Given the description of an element on the screen output the (x, y) to click on. 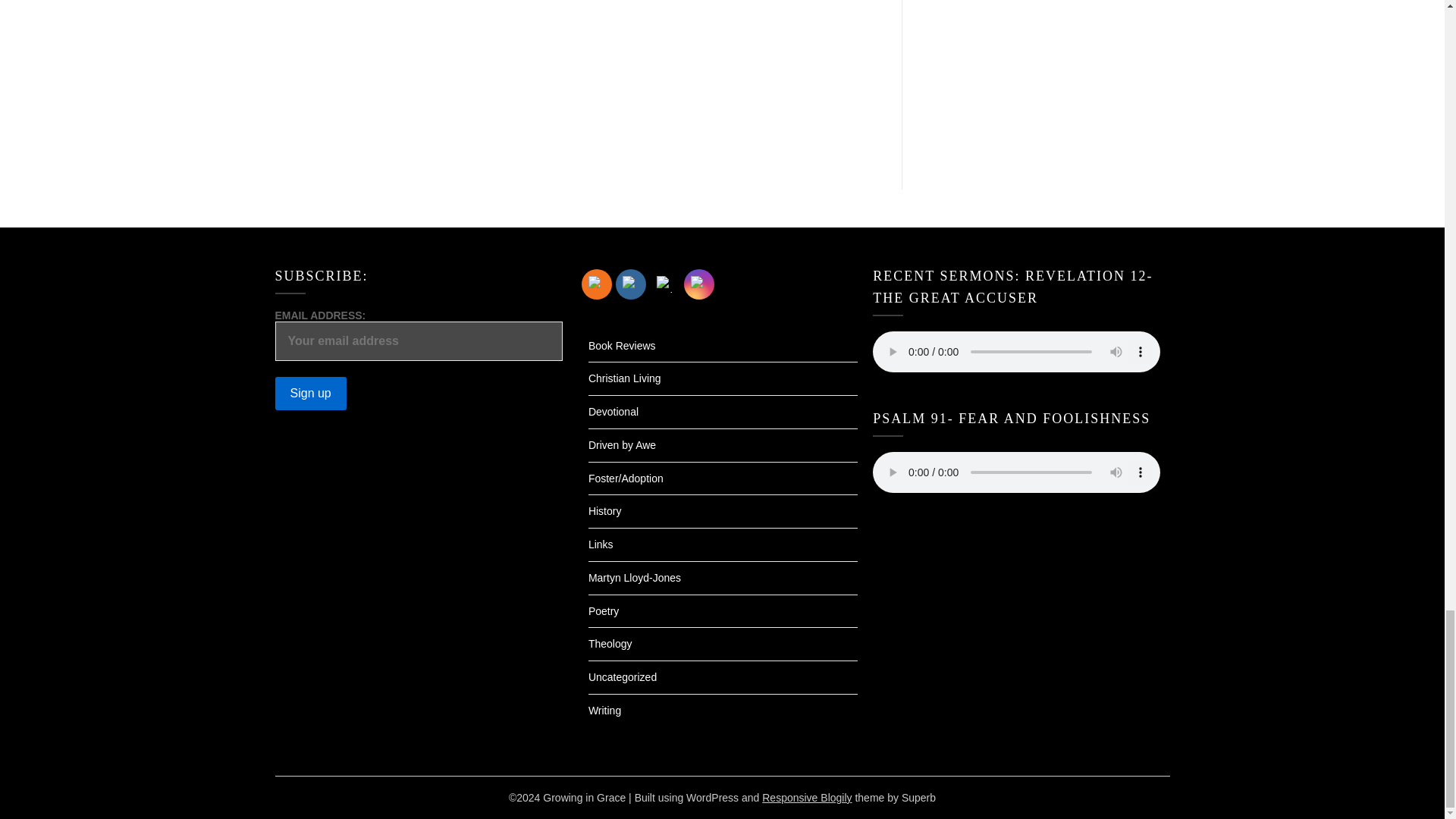
Facebook (631, 283)
Sign up (310, 393)
RSS (596, 283)
